Given the description of an element on the screen output the (x, y) to click on. 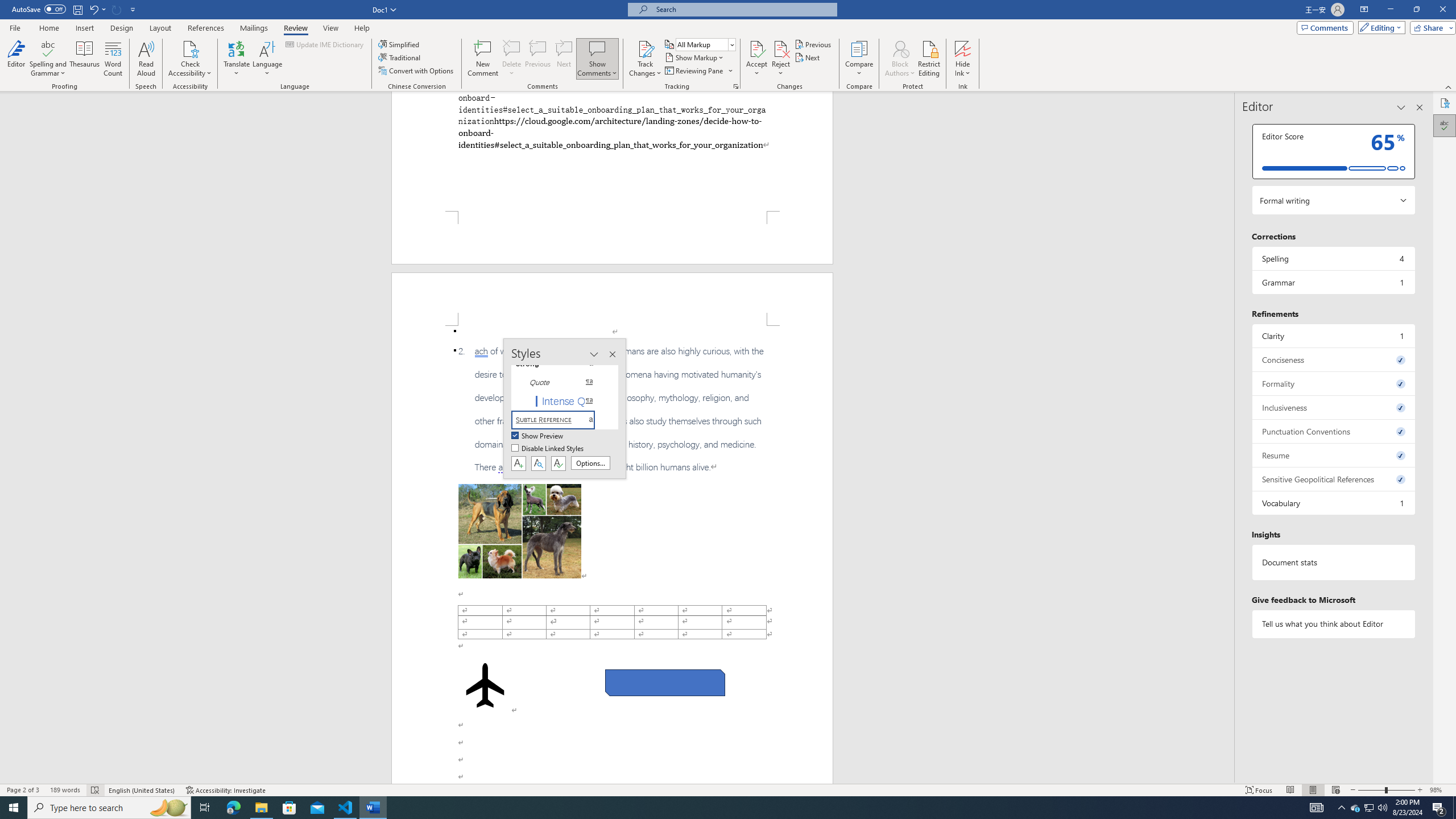
Change Tracking Options... (735, 85)
Language (267, 58)
Can't Repeat (117, 9)
Options... (590, 463)
Show Markup (695, 56)
